Given the description of an element on the screen output the (x, y) to click on. 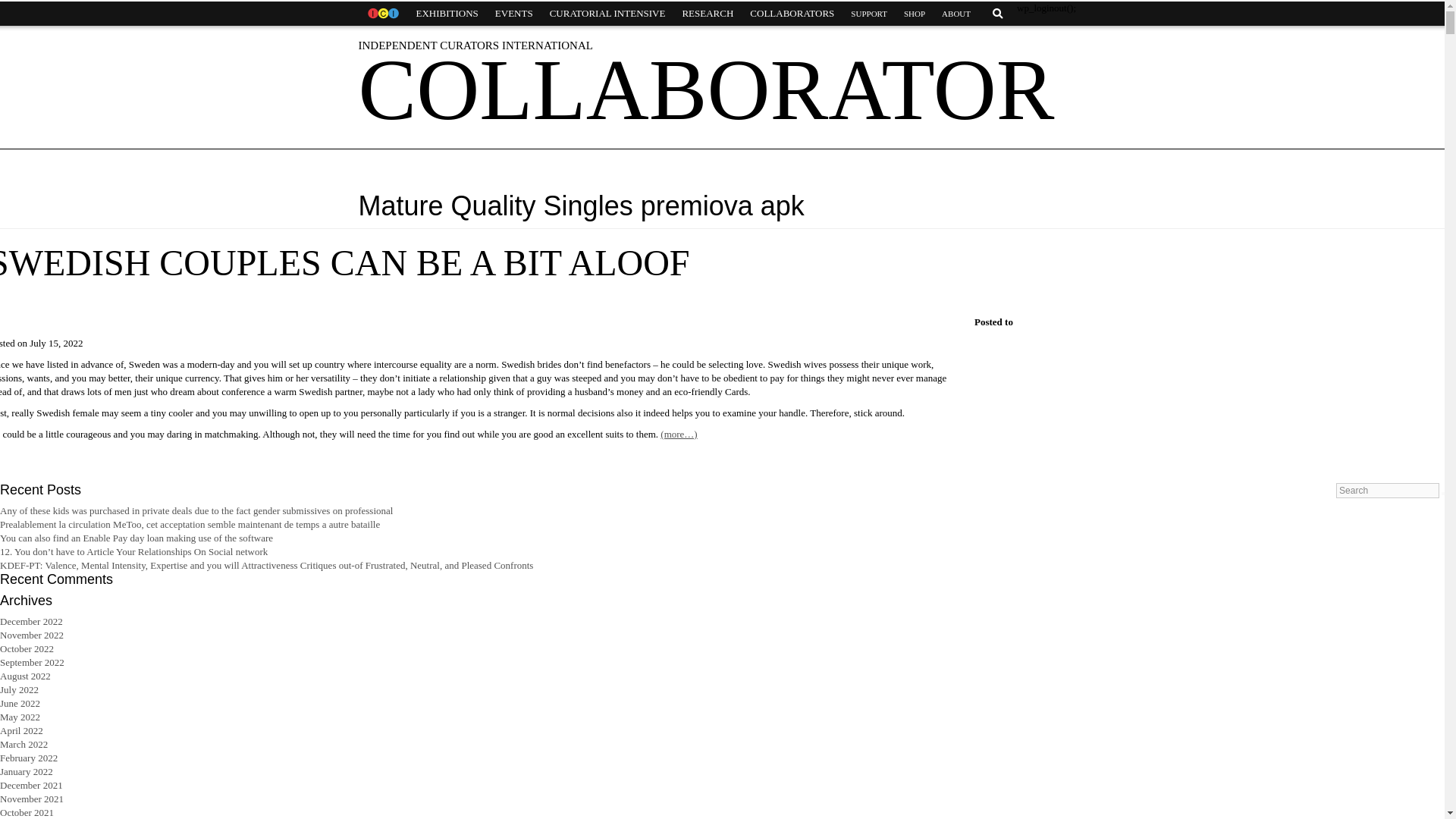
EXHIBITIONS (446, 13)
CURATORIAL INTENSIVE (607, 13)
HOME (382, 13)
RESEARCH (706, 13)
COLLABORATORS (792, 13)
EVENTS (513, 13)
